Given the description of an element on the screen output the (x, y) to click on. 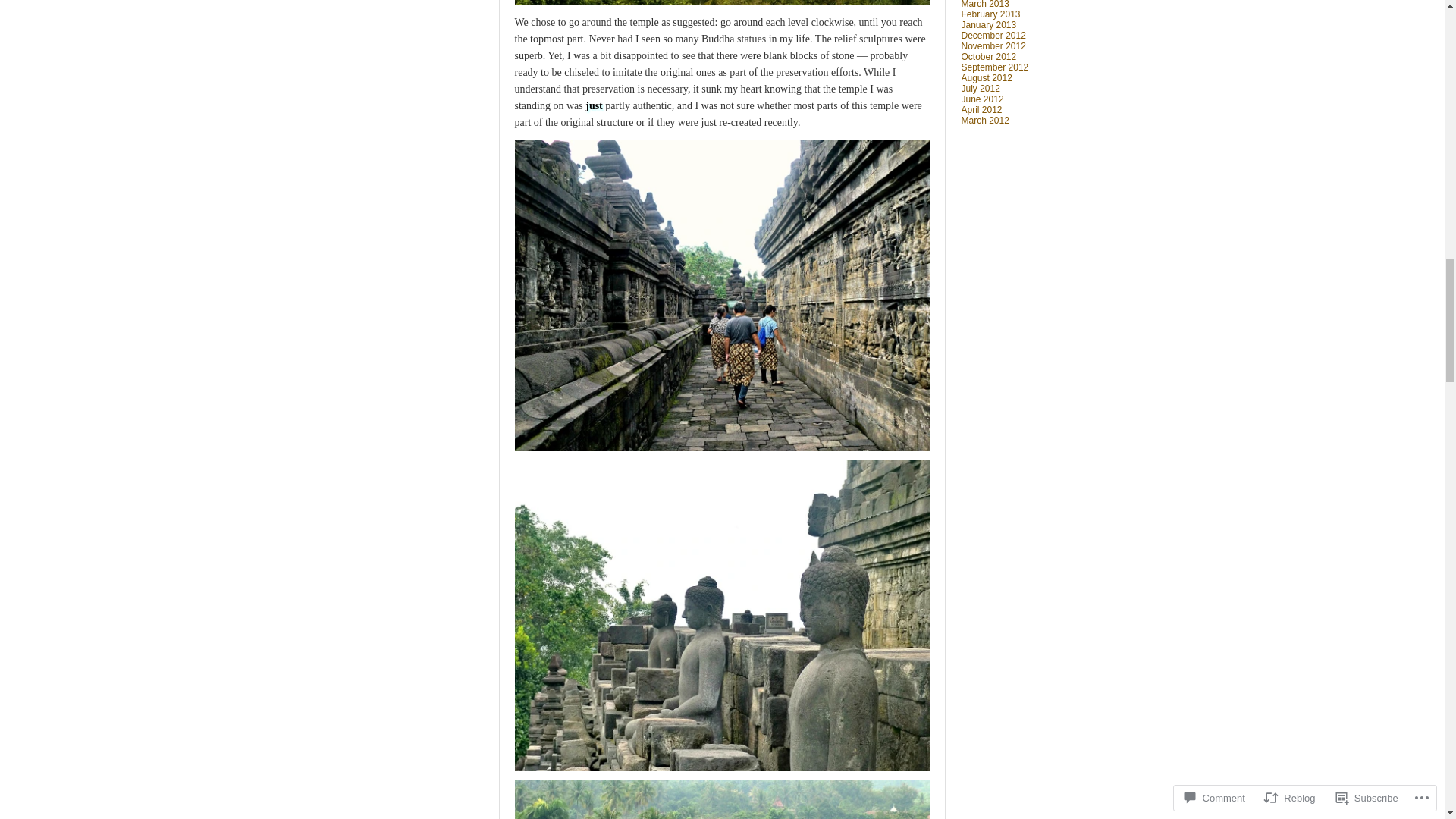
temple grounds (720, 799)
trees (720, 2)
buddhas (720, 615)
roaming (720, 295)
